Given the description of an element on the screen output the (x, y) to click on. 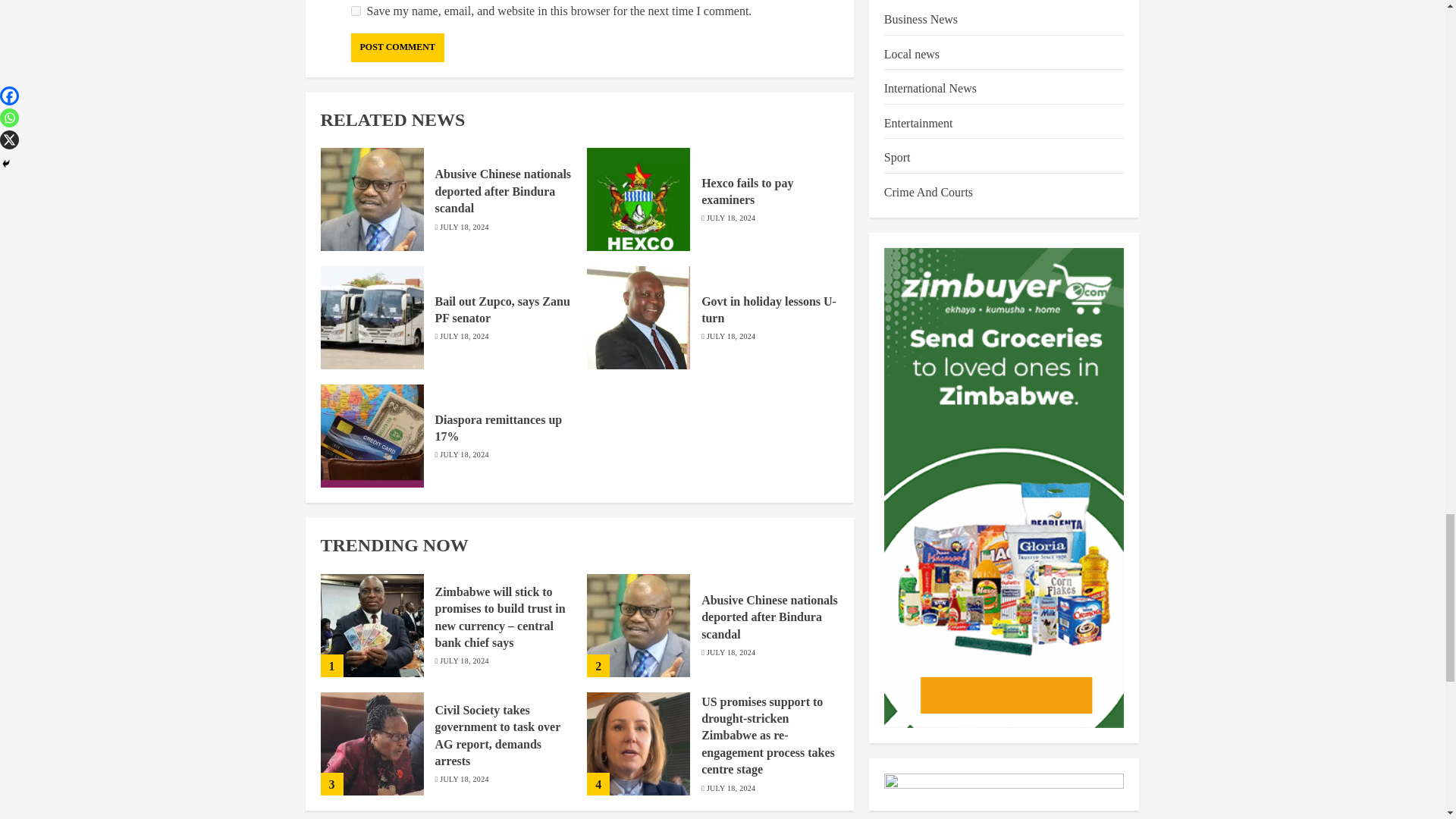
yes (354, 10)
Post Comment (397, 47)
